Given the description of an element on the screen output the (x, y) to click on. 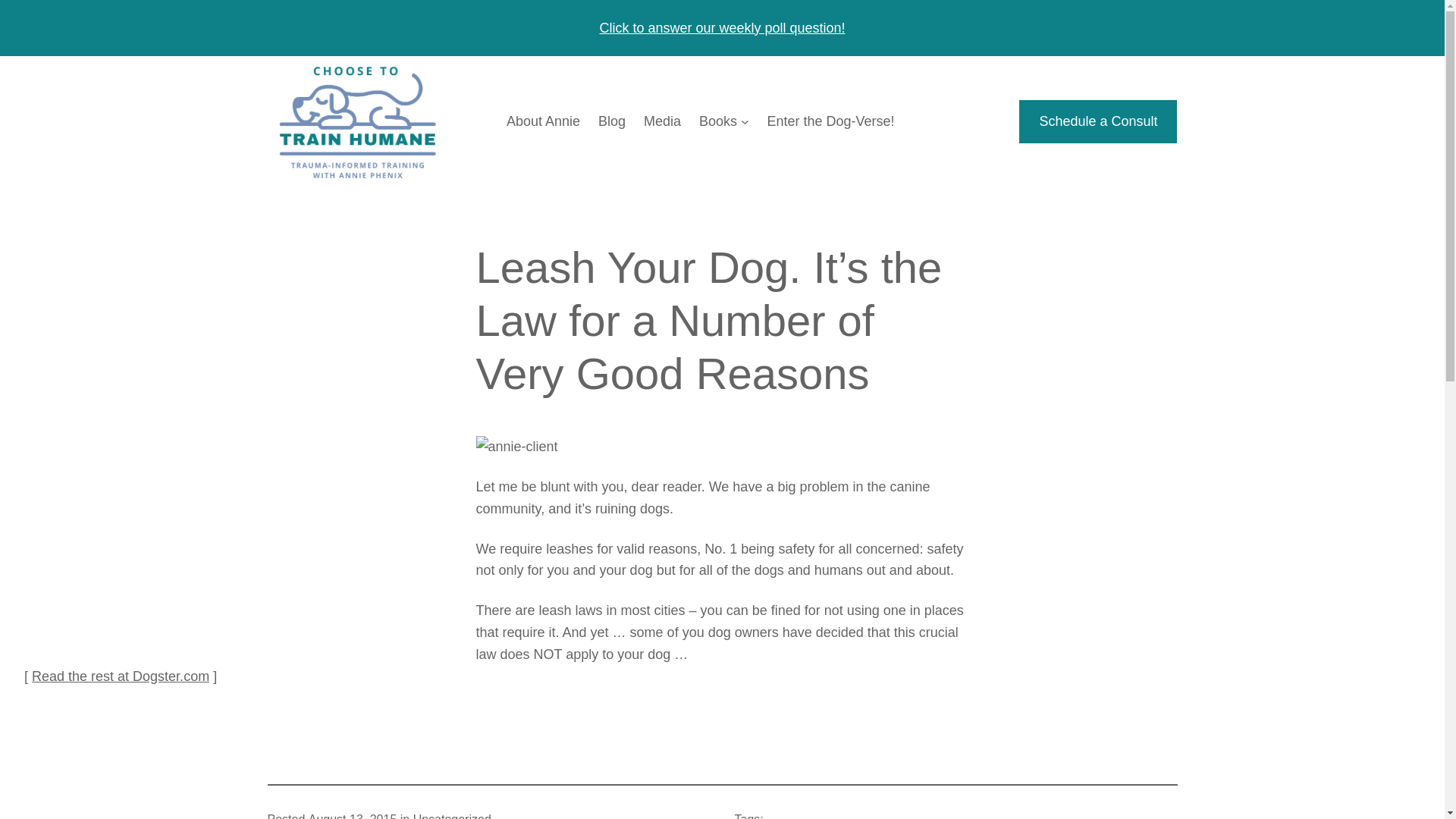
Enter the Dog-Verse! (830, 121)
Media (662, 121)
Schedule a Consult (1097, 121)
About Annie (542, 121)
Read the rest at Dogster.com (120, 676)
Click to answer our weekly poll question! (721, 27)
Blog (612, 121)
Books (717, 121)
Uncategorized (452, 816)
